Given the description of an element on the screen output the (x, y) to click on. 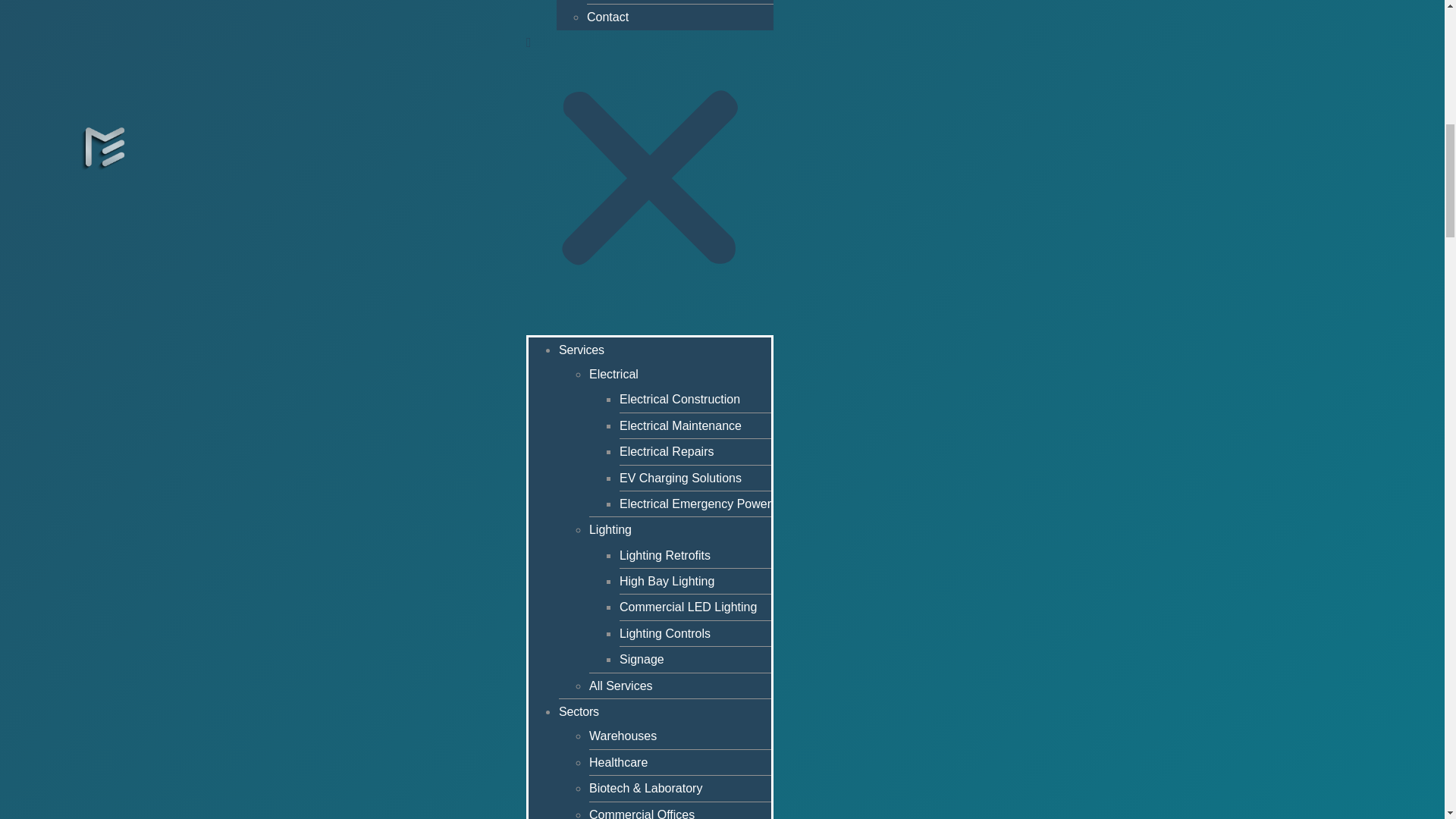
Electrical Construction (679, 399)
Electrical Repairs (666, 451)
Services (581, 349)
Lighting (610, 529)
Electrical (614, 373)
Electrical Maintenance (680, 425)
Electrical Emergency Power (695, 503)
EV Charging Solutions (680, 477)
Contact (607, 16)
